Given the description of an element on the screen output the (x, y) to click on. 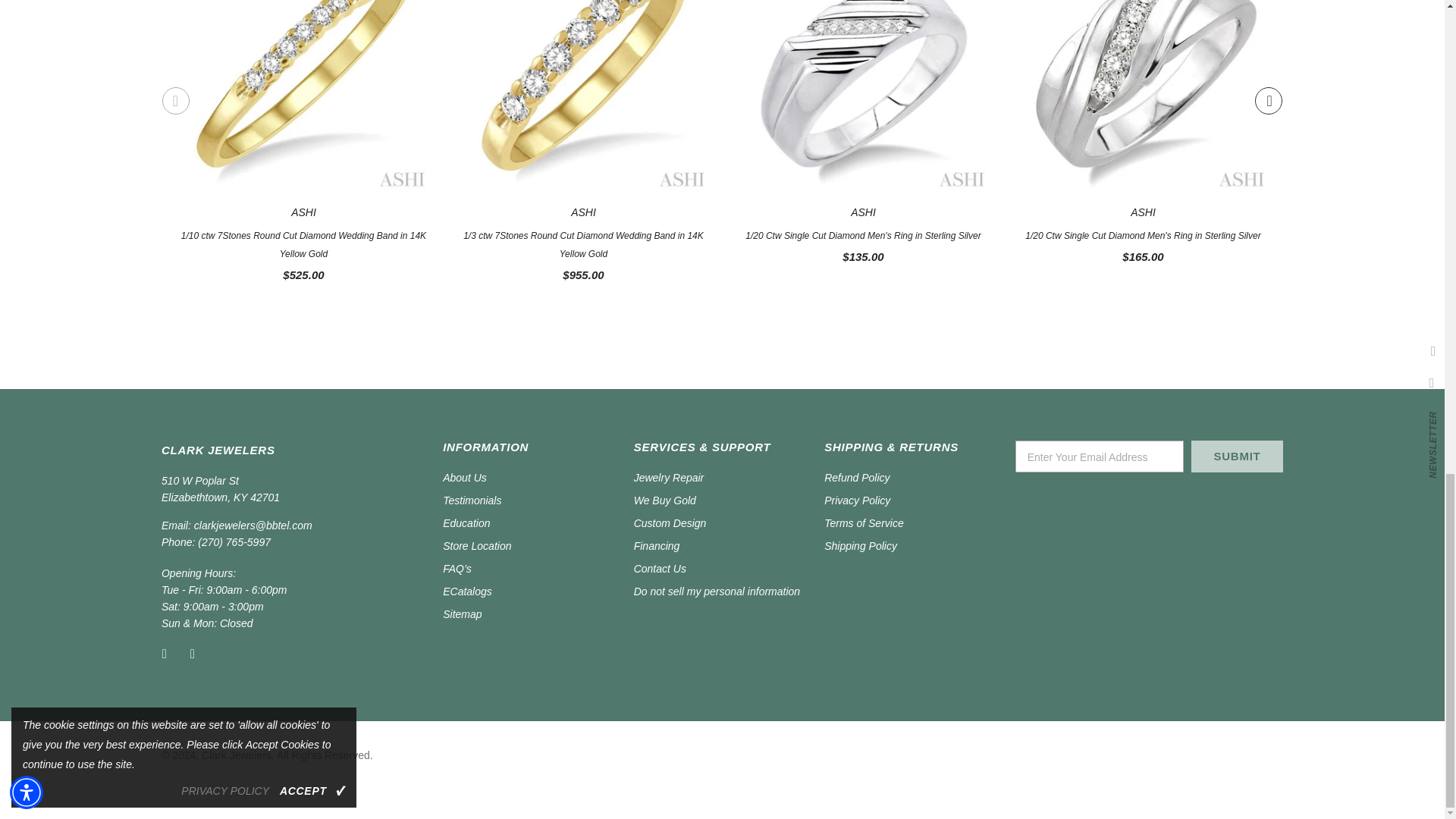
Submit (1236, 456)
